Given the description of an element on the screen output the (x, y) to click on. 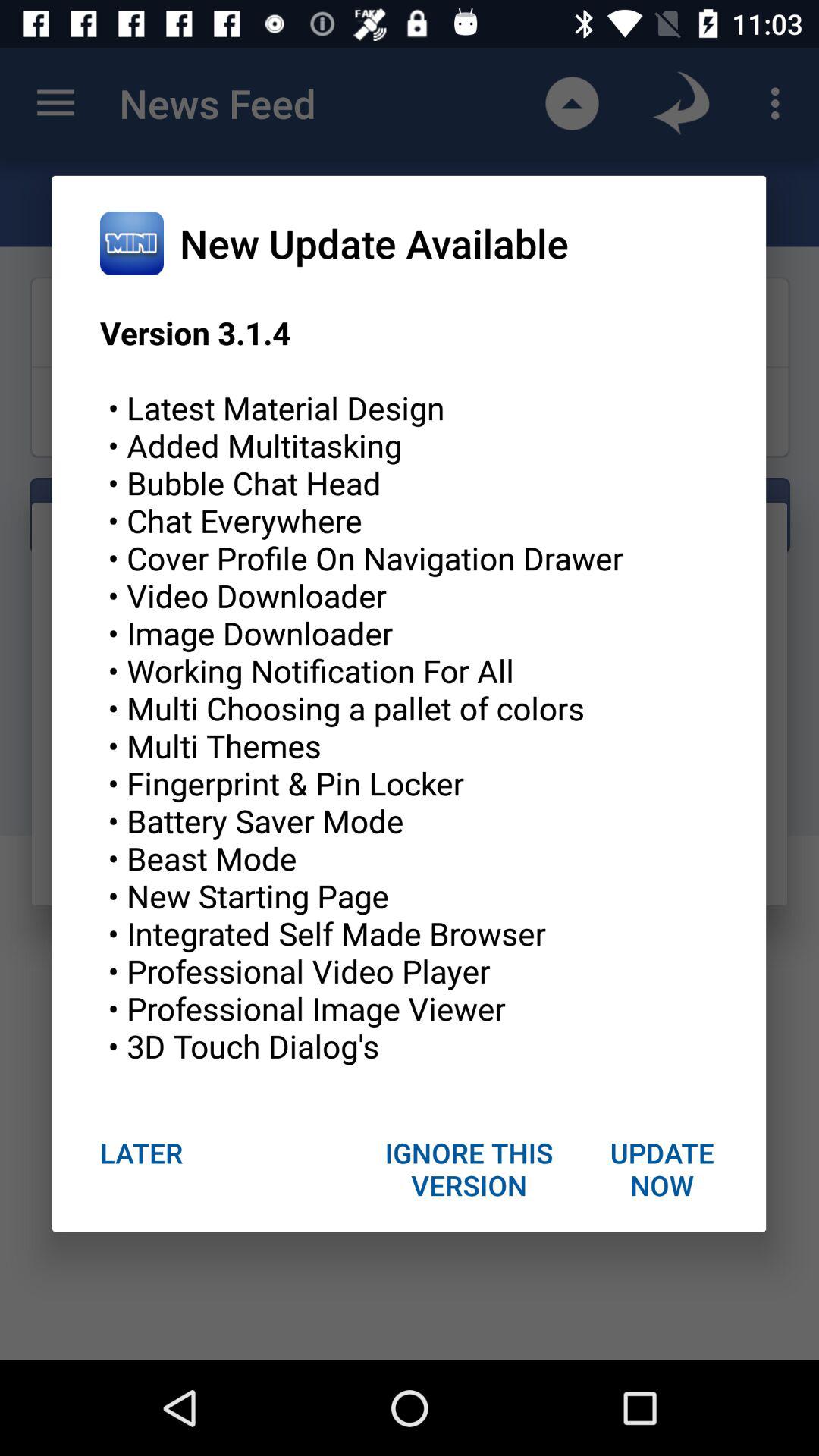
press icon to the right of ignore this
version icon (661, 1168)
